Given the description of an element on the screen output the (x, y) to click on. 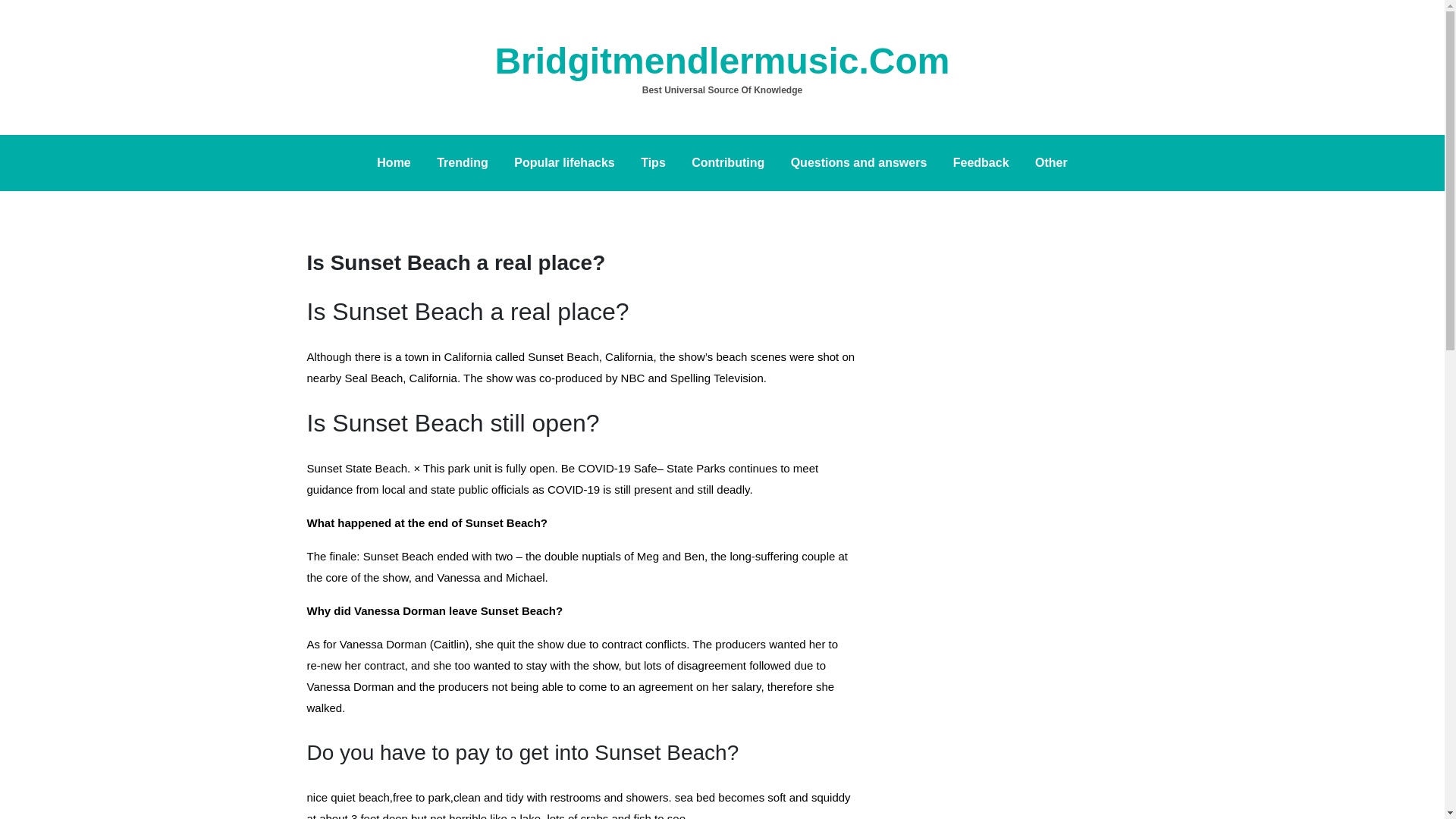
Feedback (981, 162)
Home (393, 162)
Contributing (727, 162)
Questions and answers (858, 162)
Other (1050, 162)
Trending (462, 162)
Popular lifehacks (564, 162)
Bridgitmendlermusic.Com (722, 60)
Tips (652, 162)
